Given the description of an element on the screen output the (x, y) to click on. 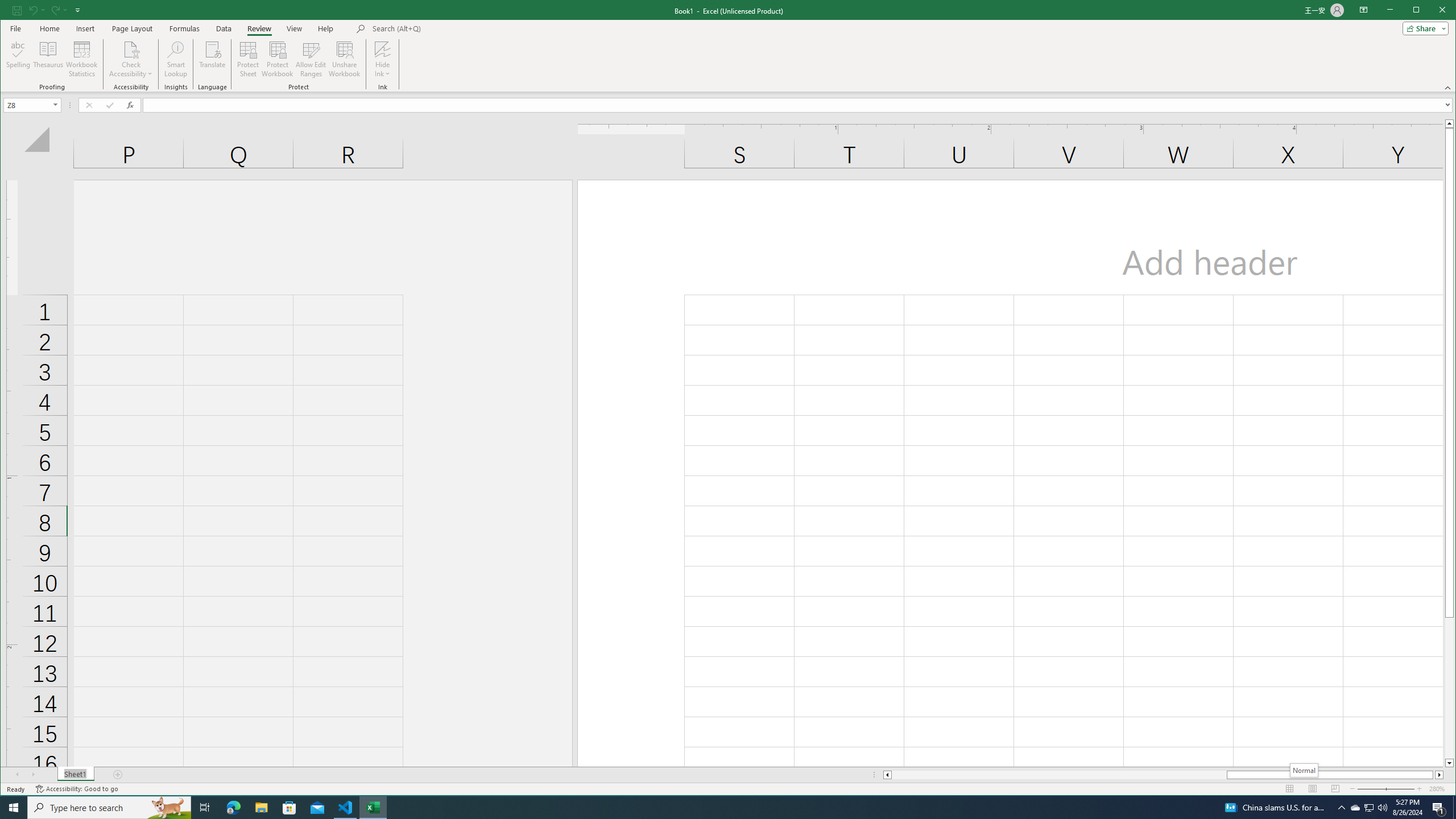
User Promoted Notification Area (1368, 807)
File Explorer (261, 807)
Search highlights icon opens search home window (167, 807)
Smart Lookup (1355, 807)
